Given the description of an element on the screen output the (x, y) to click on. 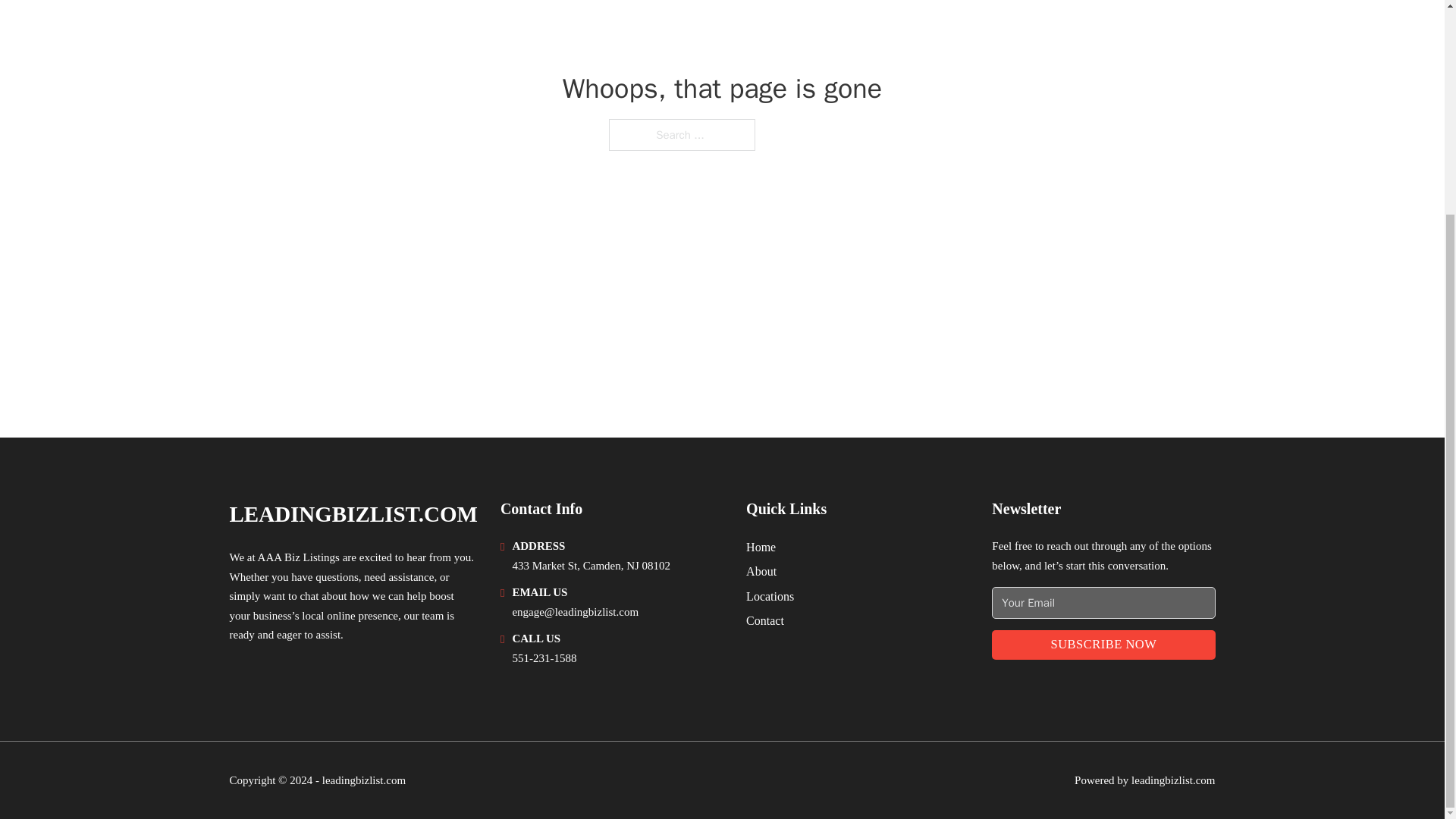
Home (760, 547)
LEADINGBIZLIST.COM (352, 514)
SUBSCRIBE NOW (1102, 644)
About (760, 571)
Contact (764, 620)
Locations (769, 596)
551-231-1588 (544, 657)
